Given the description of an element on the screen output the (x, y) to click on. 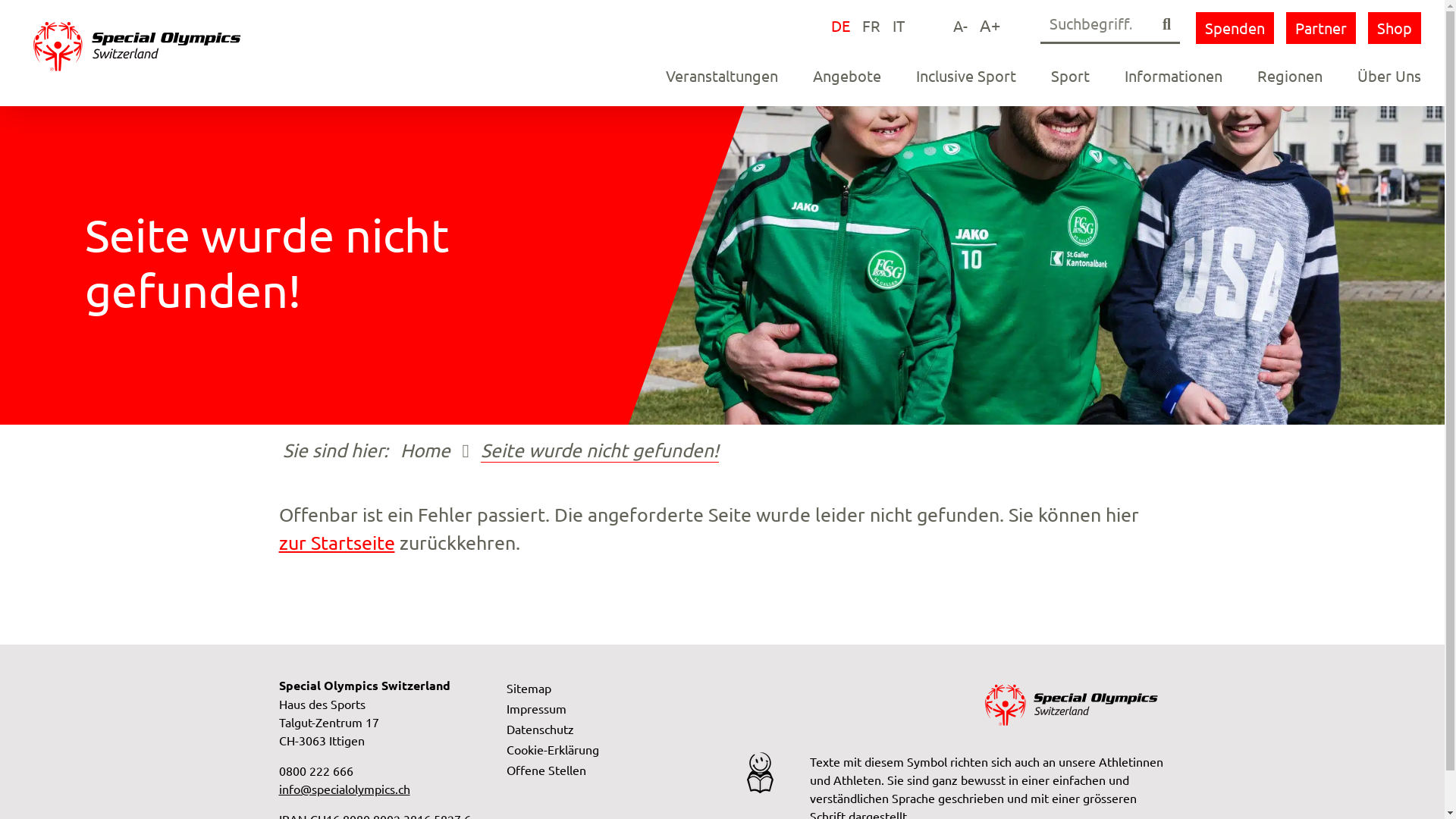
Inclusive Sport Element type: text (965, 75)
Sitemap Element type: text (528, 687)
info@specialolympics.ch Element type: text (344, 788)
Sport Element type: text (1069, 75)
Informationen Element type: text (1173, 75)
Regionen Element type: text (1289, 75)
IT Element type: text (898, 24)
Veranstaltungen Element type: text (721, 75)
zur Startseite Element type: text (337, 542)
Partner Element type: text (1320, 27)
FR Element type: text (871, 24)
Datenschutz Element type: text (540, 728)
Offene Stellen Element type: text (546, 769)
DE Element type: text (840, 24)
Spenden Element type: text (1234, 27)
Angebote Element type: text (846, 75)
Impressum Element type: text (536, 707)
Shop Element type: text (1394, 27)
Home Element type: text (425, 449)
